Given the description of an element on the screen output the (x, y) to click on. 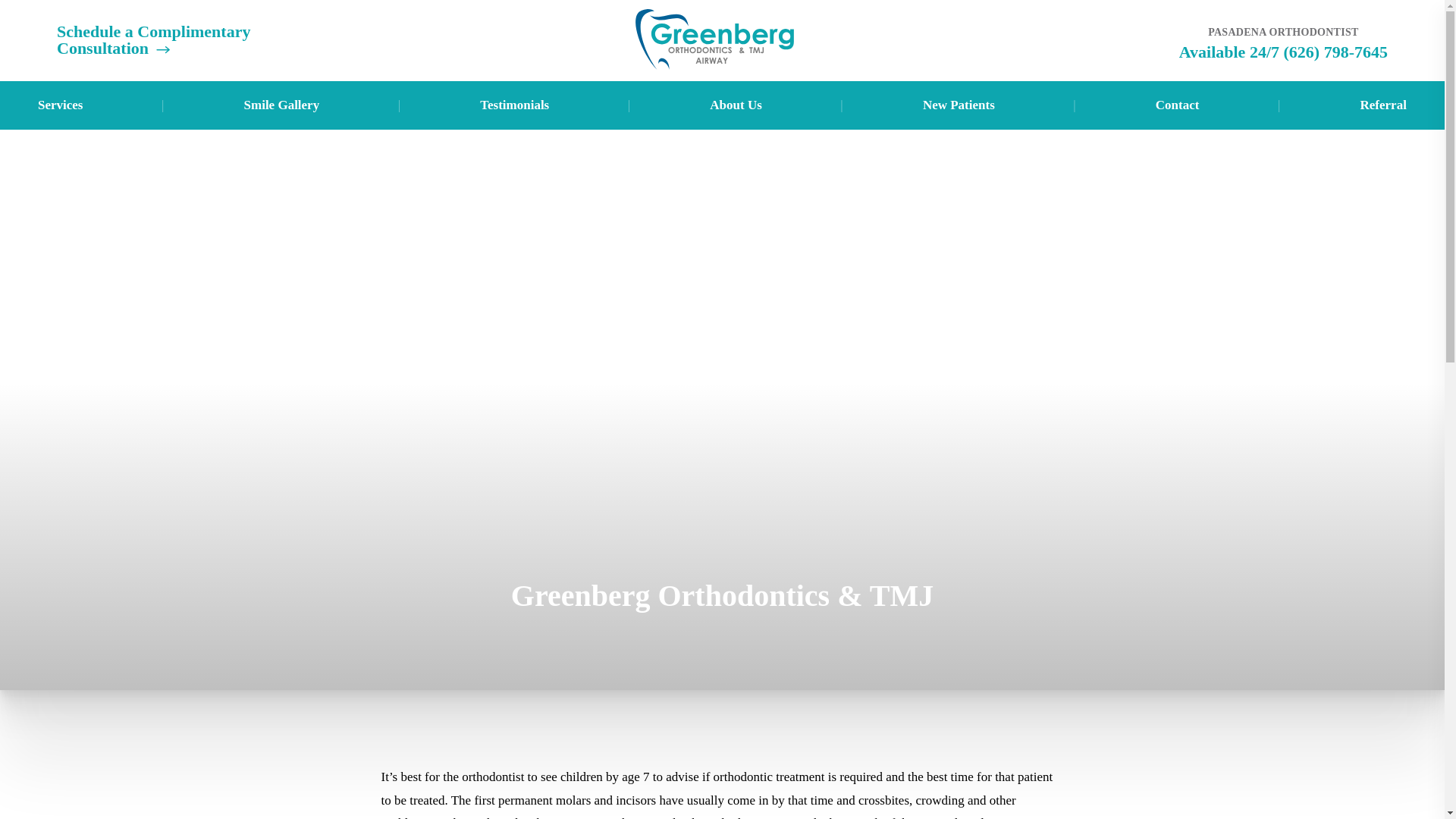
Orthodontics (121, 217)
The Team (748, 217)
Your First Visit (965, 176)
Testimonials (514, 105)
Technology (748, 259)
TMJ Therapy (121, 176)
Children's Orthodontics (121, 422)
New Patients (958, 105)
Invisalign (121, 259)
Testimonials (531, 217)
